Given the description of an element on the screen output the (x, y) to click on. 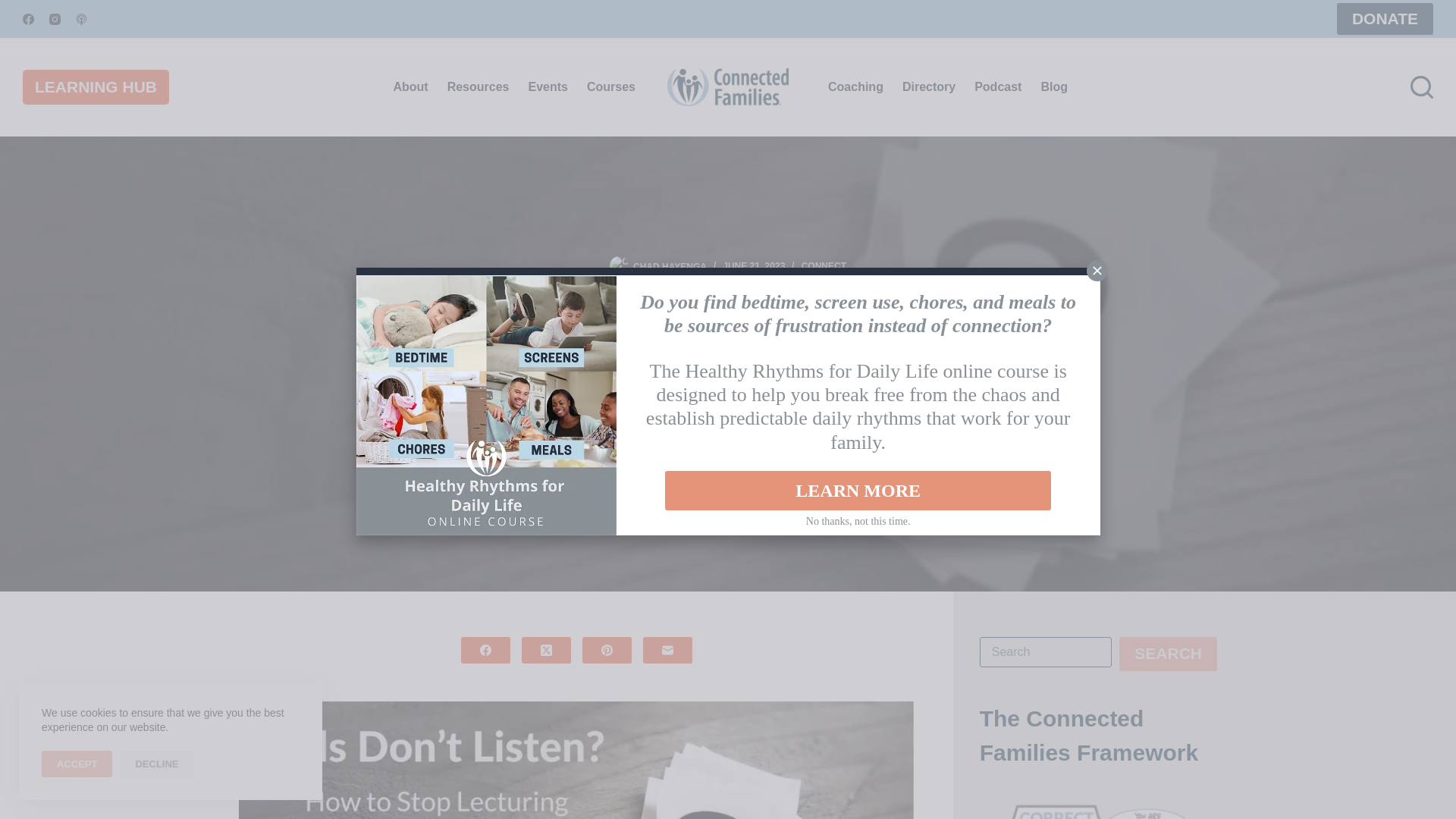
Skip to content (15, 7)
ACCEPT (77, 764)
Close (1096, 269)
LEARN MORE (858, 490)
Posts by Chad Hayenga (669, 266)
LEARNING HUB (95, 87)
DONATE (1384, 19)
DECLINE (156, 764)
